Given the description of an element on the screen output the (x, y) to click on. 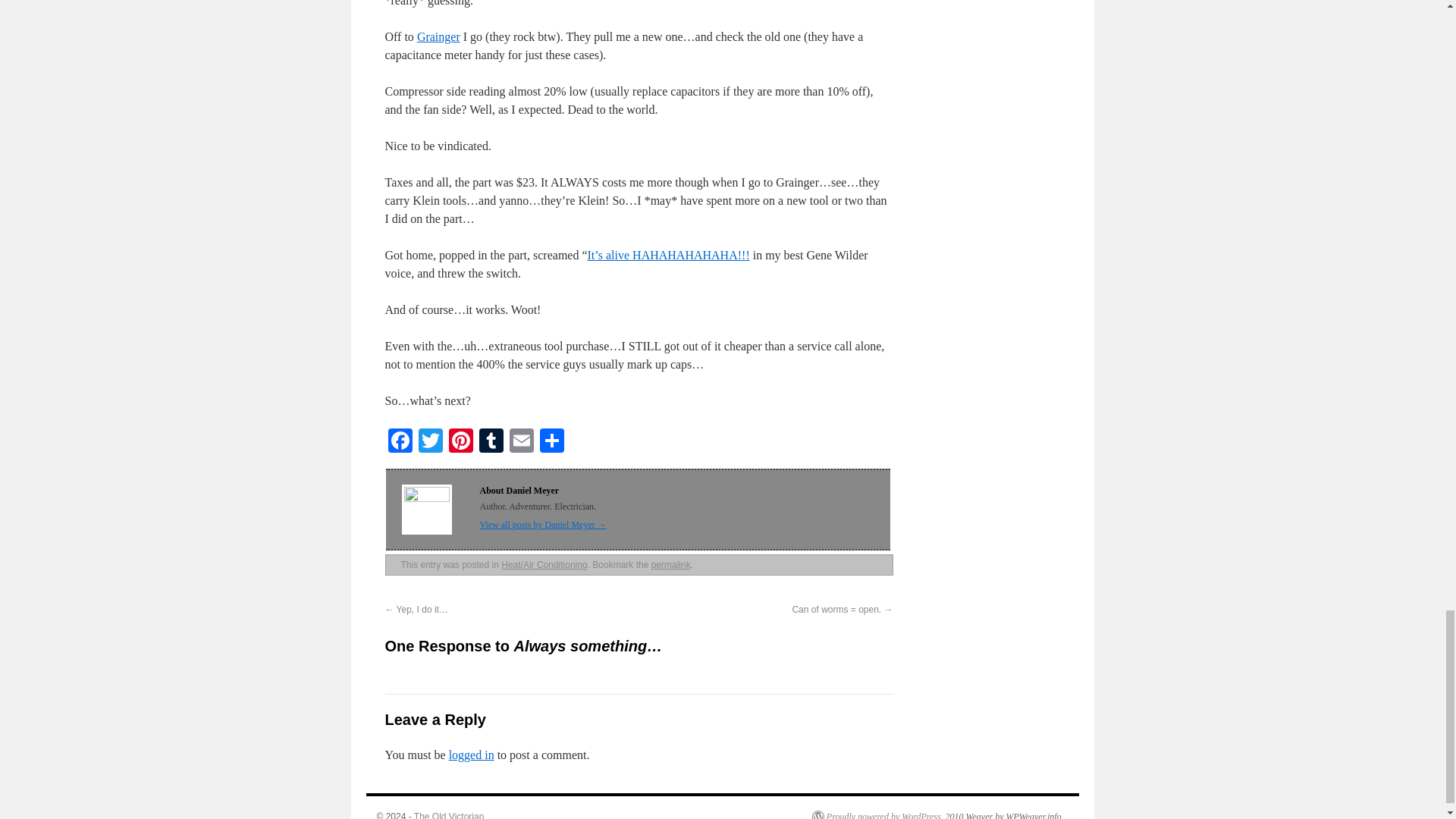
Facebook (399, 442)
Pinterest (460, 442)
Email (521, 442)
Tumblr (491, 442)
Twitter (429, 442)
